Given the description of an element on the screen output the (x, y) to click on. 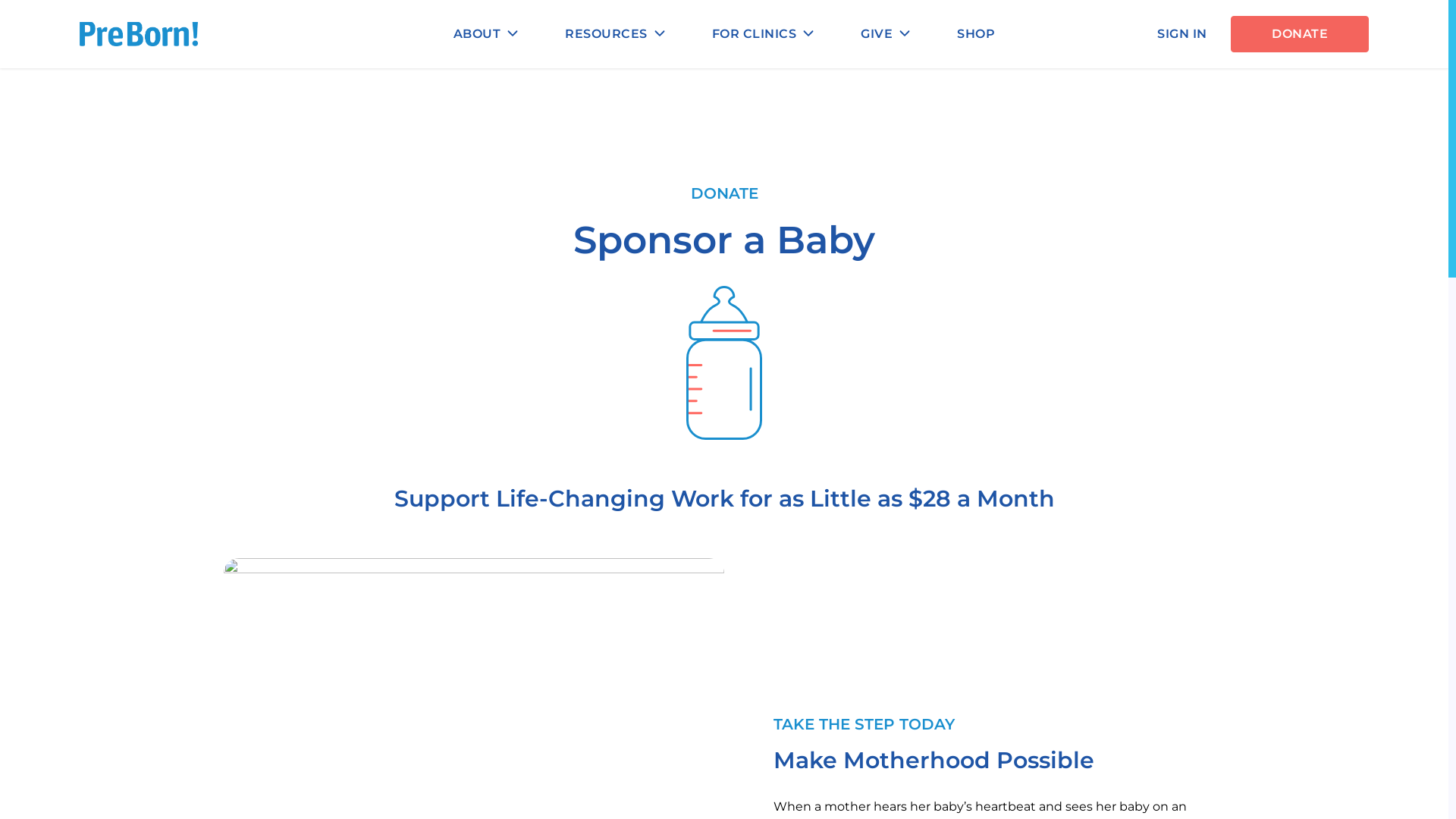
RESOURCES Element type: text (615, 33)
ABOUT Element type: text (486, 33)
SIGN IN Element type: text (1182, 33)
SHOP Element type: text (975, 33)
GIVE Element type: text (885, 33)
DONATE Element type: text (1299, 33)
FOR CLINICS Element type: text (763, 33)
